Given the description of an element on the screen output the (x, y) to click on. 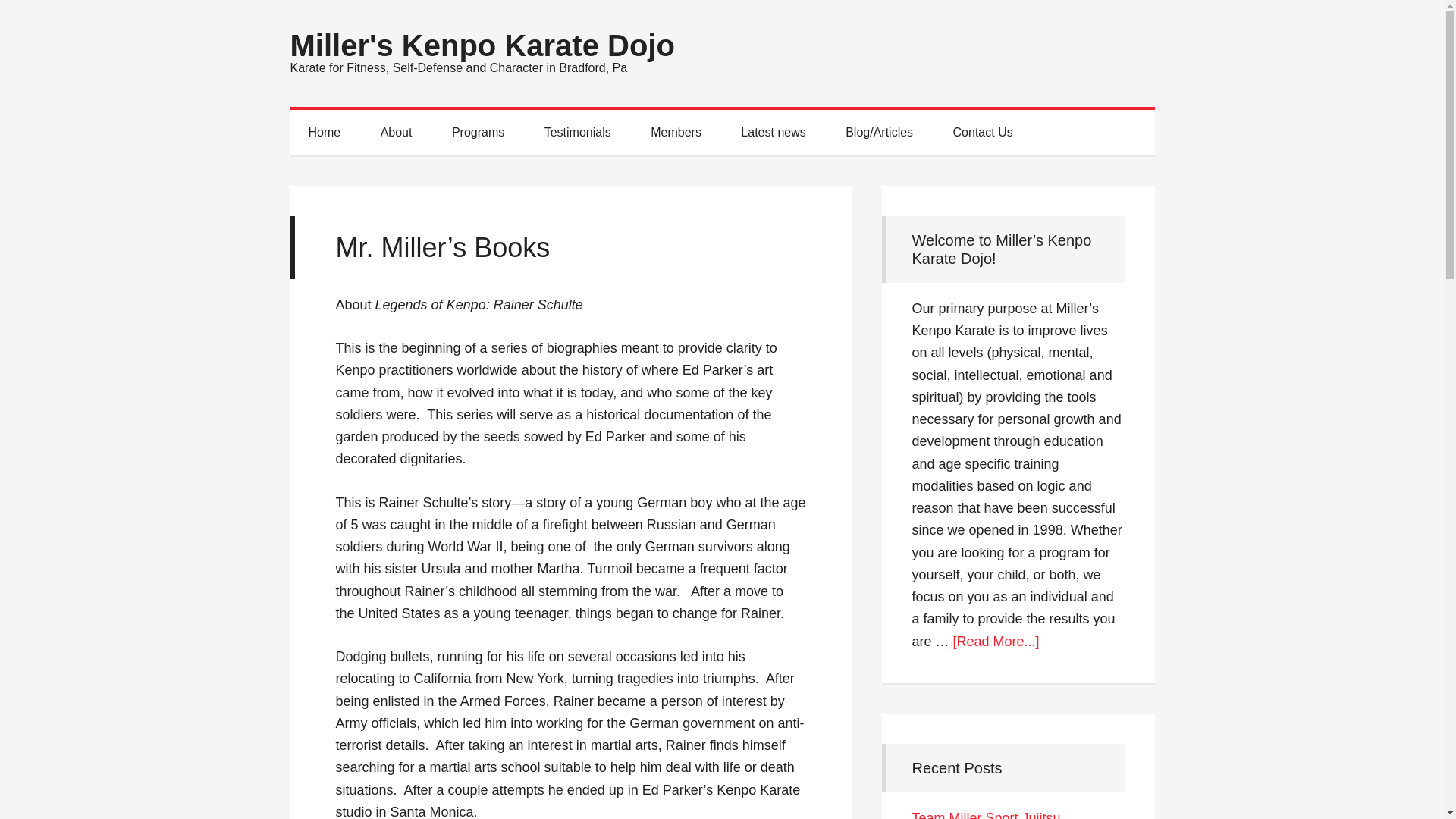
Testimonials (576, 132)
Team Miller Sport Jujitsu (985, 814)
Members (675, 132)
Programs (477, 132)
Miller's Kenpo Karate Dojo (481, 45)
Latest news (773, 132)
Home (323, 132)
Contact Us (982, 132)
About (396, 132)
